Given the description of an element on the screen output the (x, y) to click on. 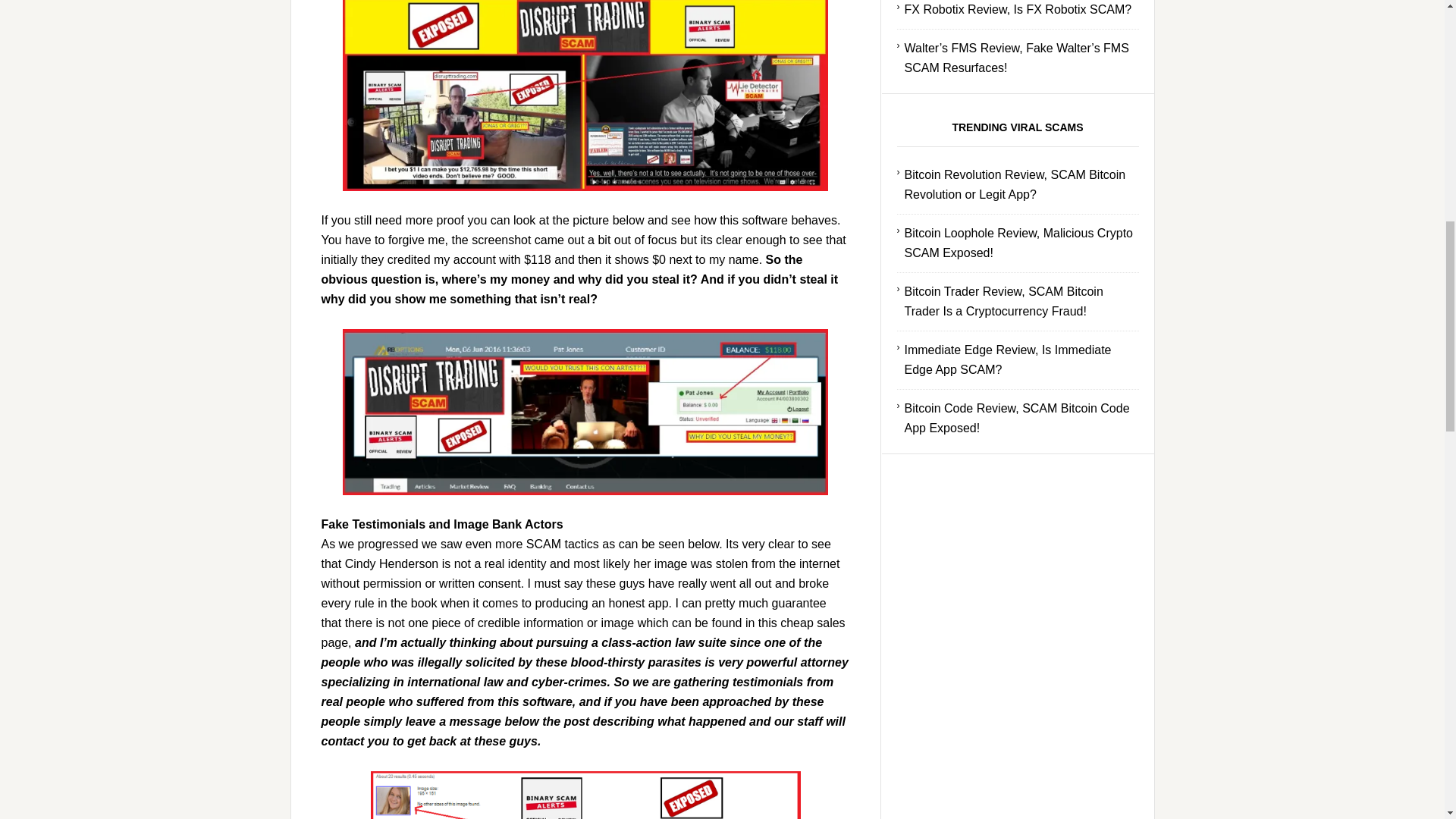
Disrupt Trading Review (585, 95)
Disrupt Trading Scam Review (584, 795)
Disrupt Trading Scam (585, 412)
